Given the description of an element on the screen output the (x, y) to click on. 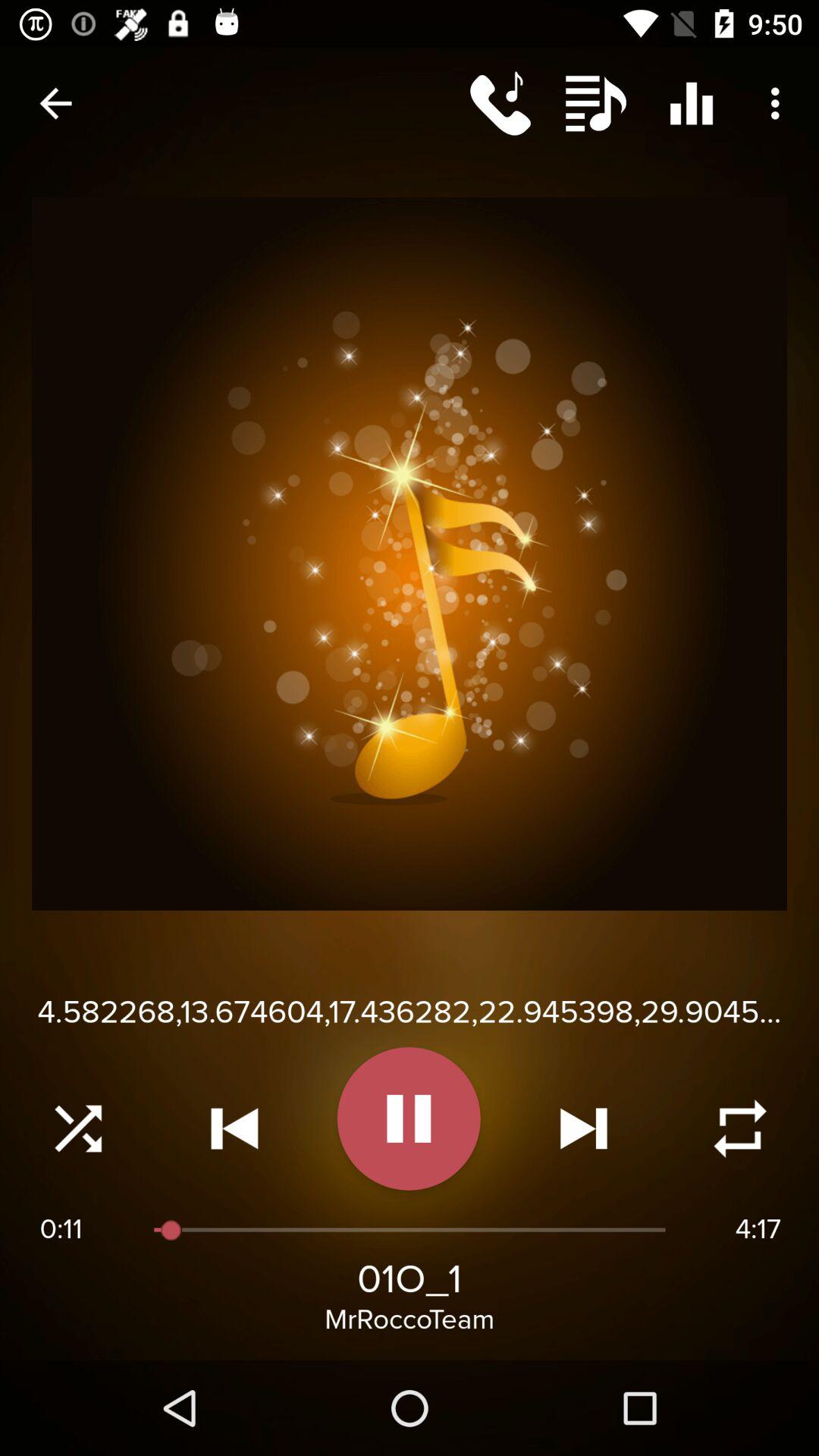
shuffle audio (78, 1128)
